Given the description of an element on the screen output the (x, y) to click on. 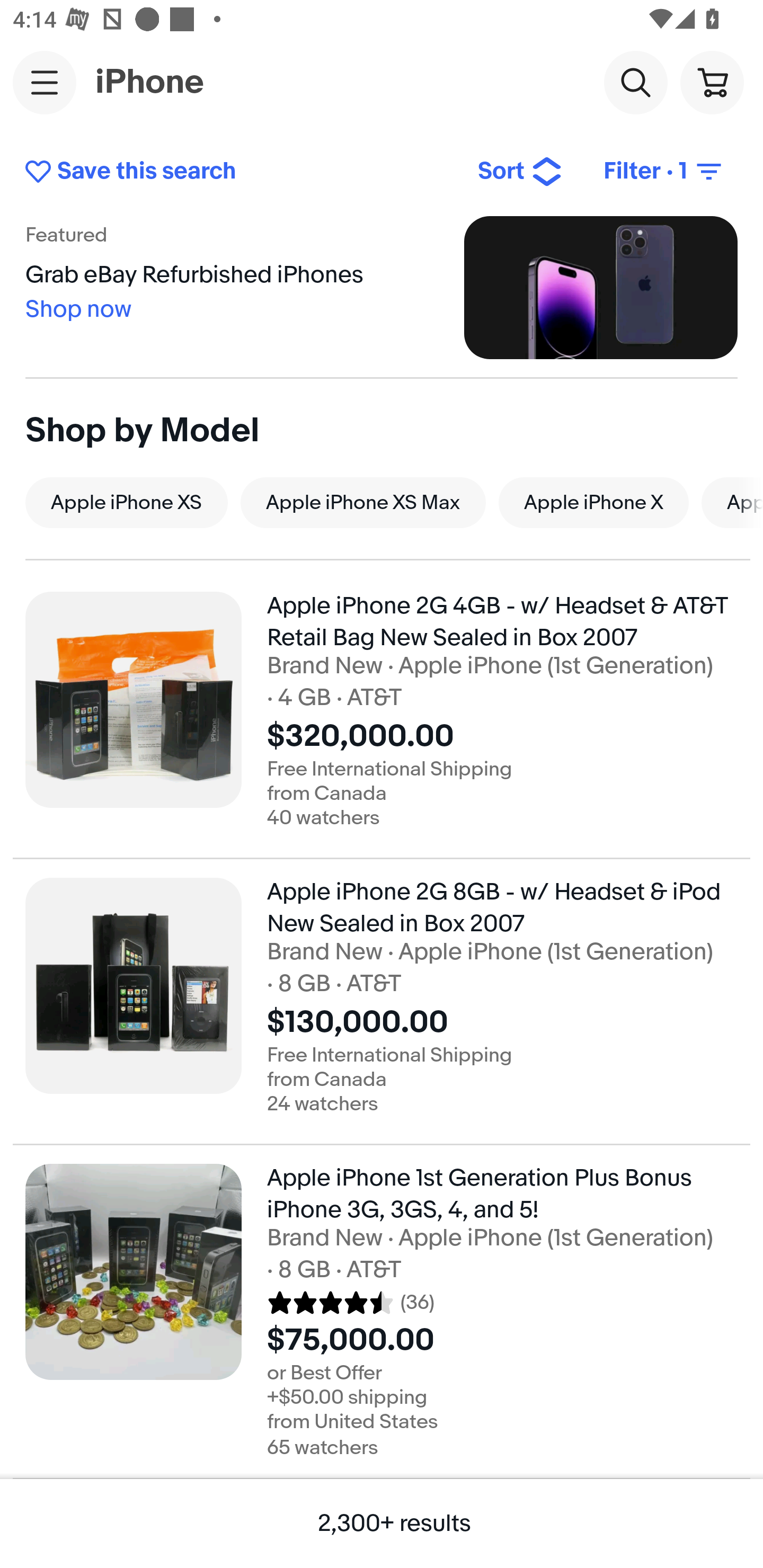
Main navigation, open (44, 82)
Search (635, 81)
Cart button shopping cart (711, 81)
Save this search (237, 171)
Sort (520, 171)
Filter • 1 Filter (1 applied) (663, 171)
Featured Grab eBay Refurbished iPhones Shop now (381, 287)
Apple iPhone XS Apple iPhone XS, Model (126, 502)
Apple iPhone XS Max Apple iPhone XS Max, Model (363, 502)
Apple iPhone X Apple iPhone X, Model (593, 502)
